Given the description of an element on the screen output the (x, y) to click on. 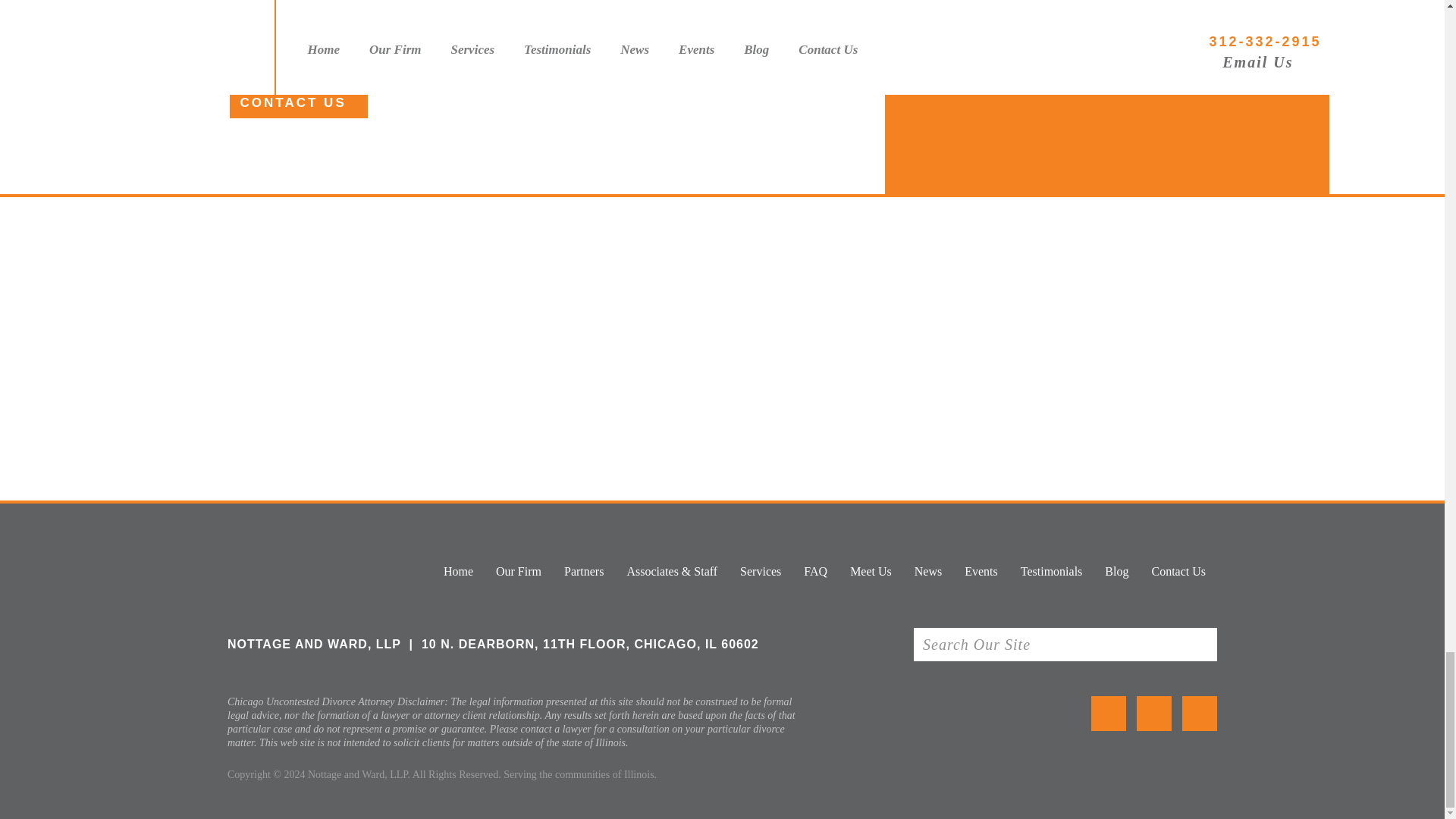
Follow us on Facebook (1154, 713)
Follow us on Twitter (1107, 713)
Nottage and Ward, LLP (296, 569)
Follow us on LinkedIn (1199, 713)
Search Our Site (1027, 644)
Search Our Site (1027, 644)
